Given the description of an element on the screen output the (x, y) to click on. 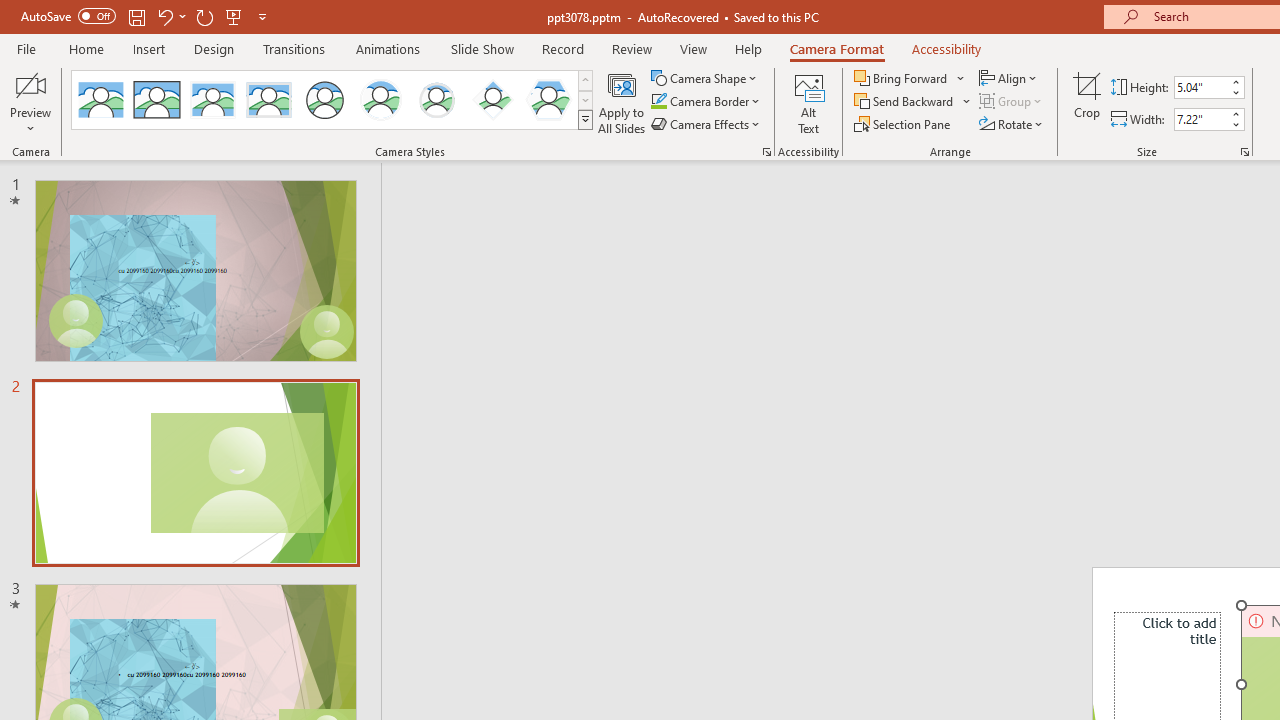
Selection Pane... (904, 124)
Camera Styles (585, 120)
Camera Border Green, Accent 1 (658, 101)
Center Shadow Hexagon (548, 100)
